Given the description of an element on the screen output the (x, y) to click on. 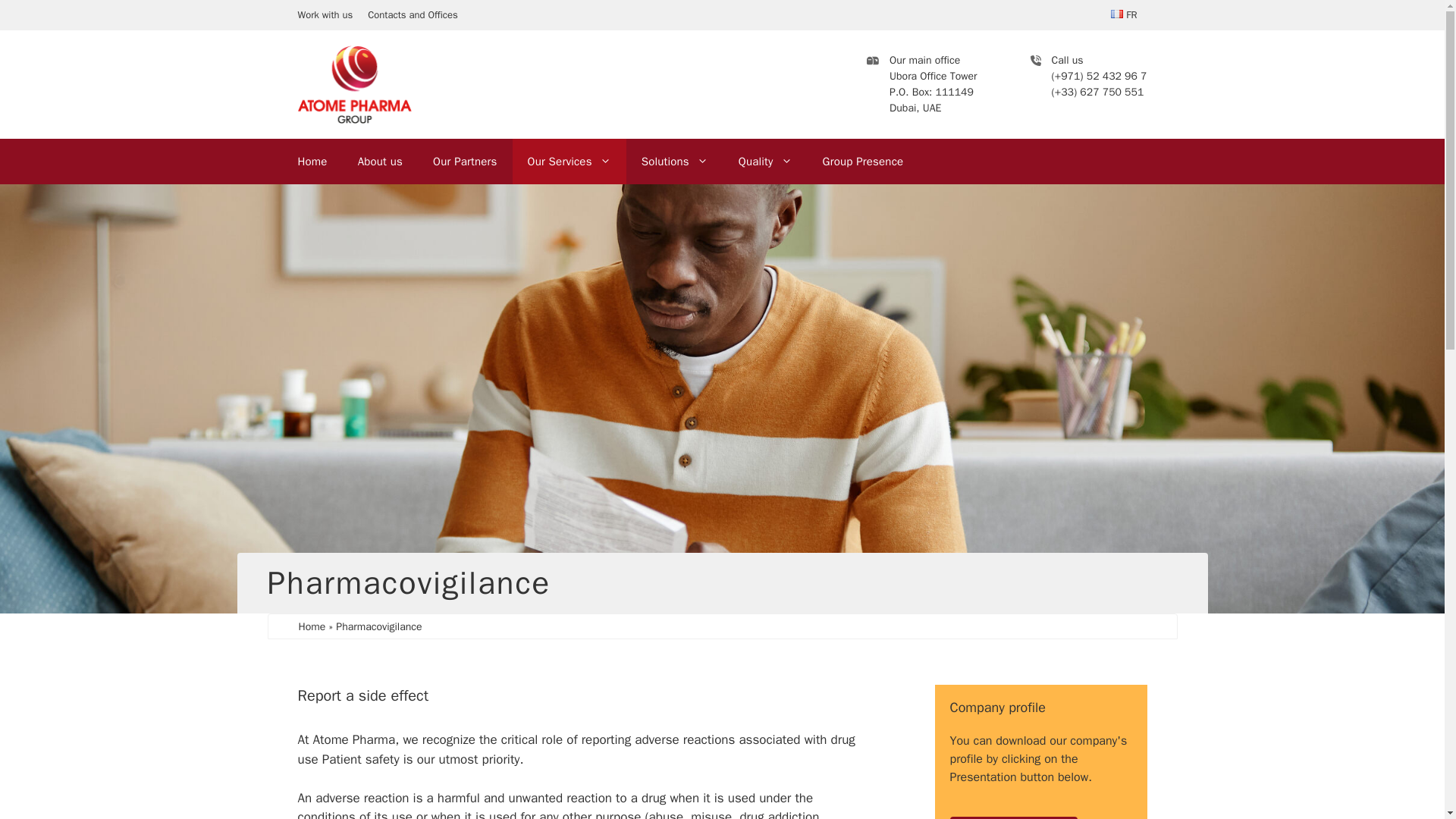
Our Services (569, 161)
Home (312, 161)
Our Partners (464, 161)
FR (1123, 14)
Group Presence (863, 161)
Presentation (1013, 817)
Quality (765, 161)
Home (312, 626)
About us (379, 161)
Contacts and Offices (413, 14)
